Given the description of an element on the screen output the (x, y) to click on. 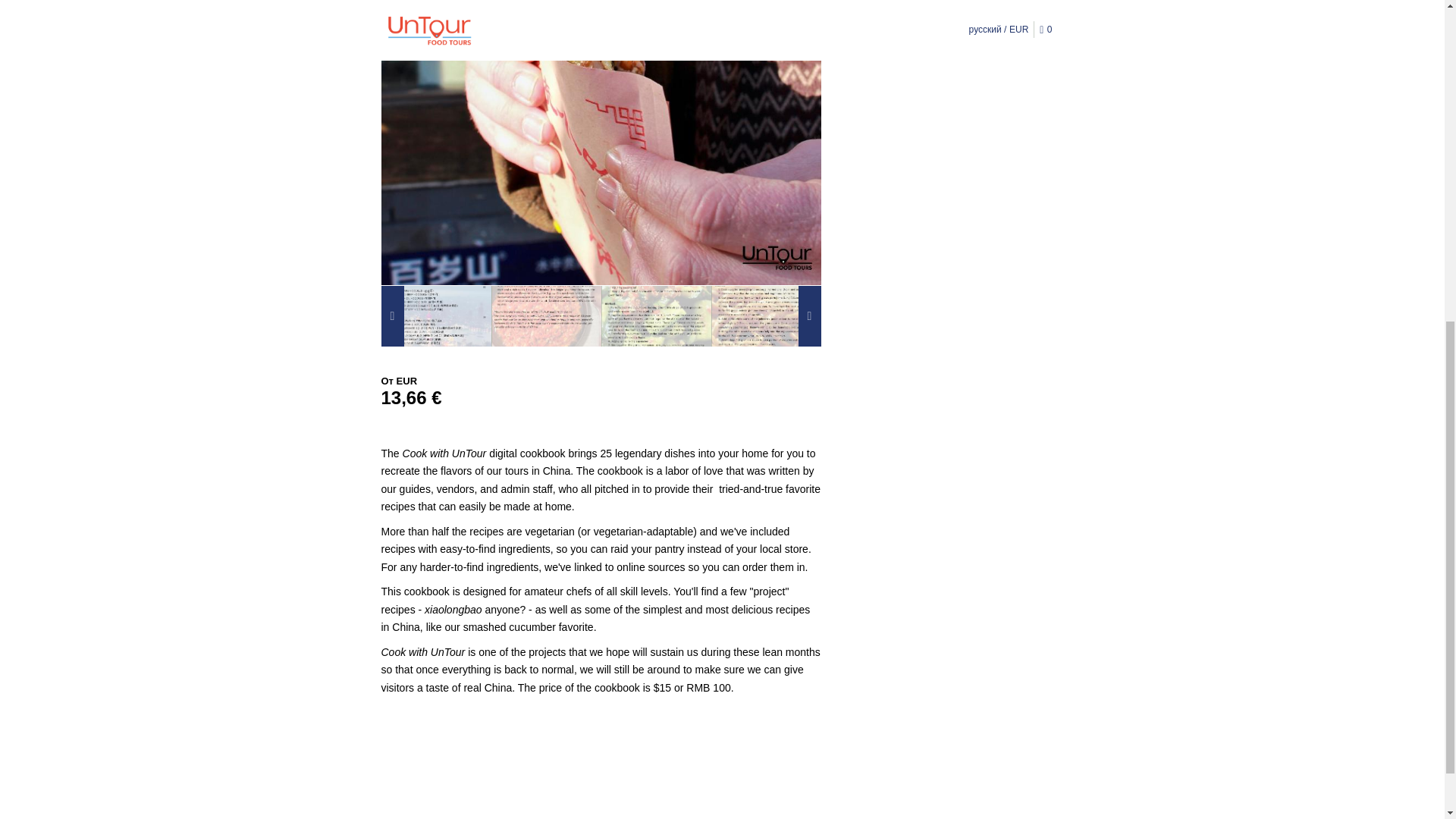
Estimated conversion from 15 (600, 398)
